Given the description of an element on the screen output the (x, y) to click on. 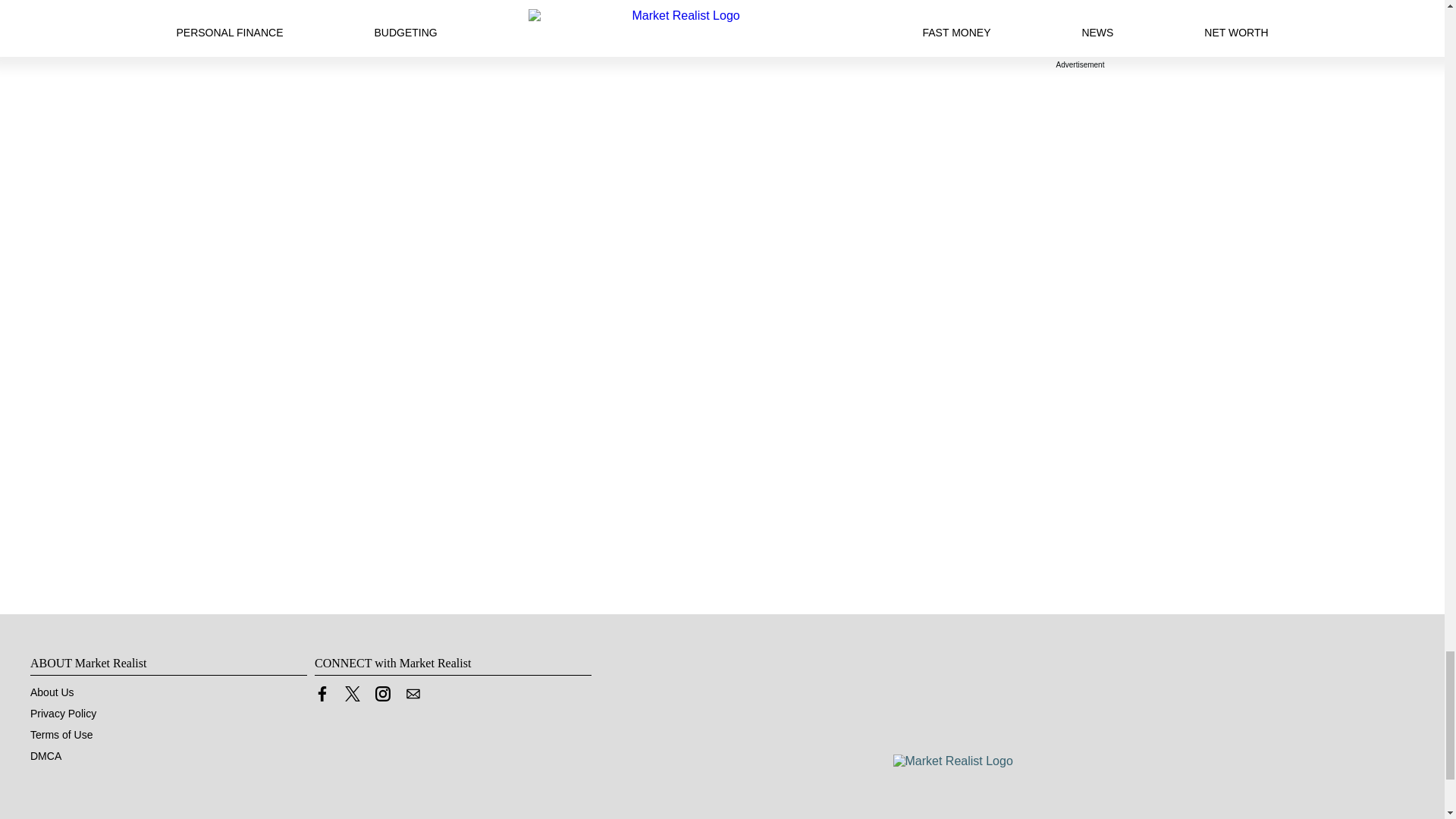
Privacy Policy (63, 713)
About Us (52, 692)
DMCA (45, 756)
Link to Facebook (322, 693)
About Us (52, 692)
Link to Instagram (382, 693)
Link to X (352, 693)
Link to X (352, 697)
DMCA (45, 756)
Link to Instagram (382, 697)
Terms of Use (61, 734)
Terms of Use (61, 734)
Contact us by Email (413, 693)
Contact us by Email (413, 697)
Link to Facebook (322, 697)
